Given the description of an element on the screen output the (x, y) to click on. 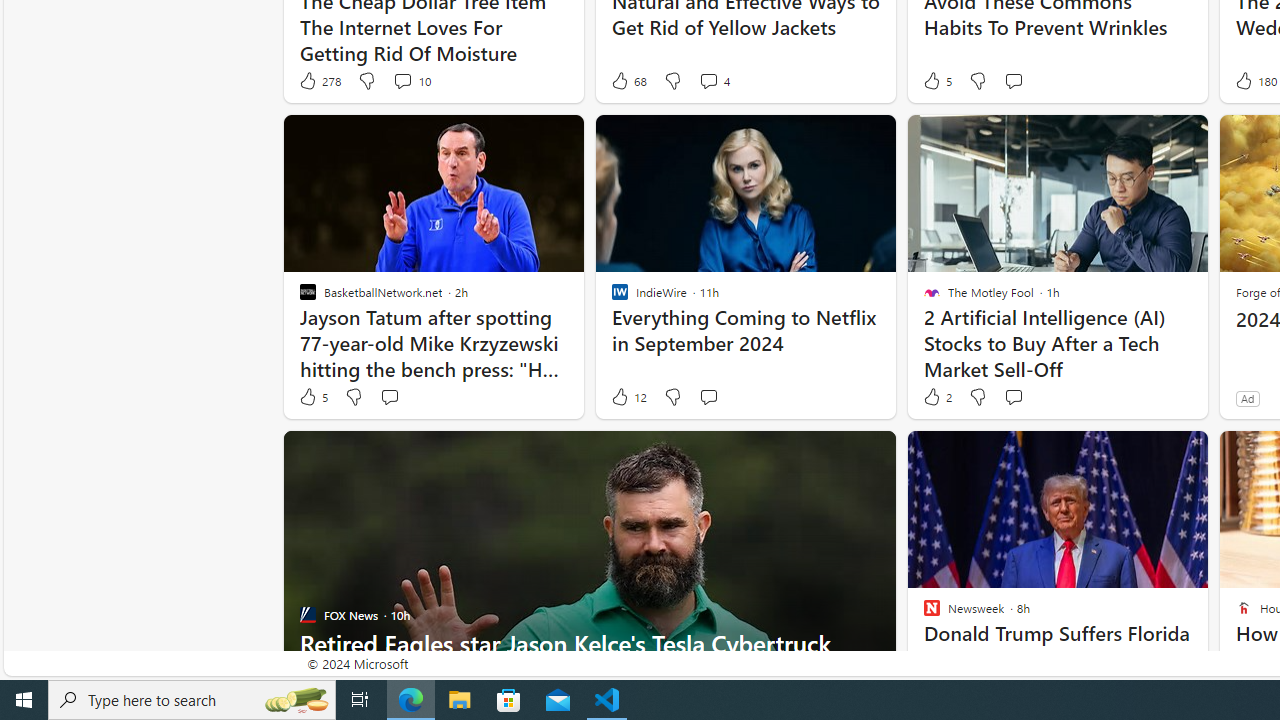
View comments 10 Comment (402, 80)
68 Like (628, 80)
5 Like (312, 397)
View comments 10 Comment (411, 80)
2 Like (936, 397)
View comments 4 Comment (713, 80)
12 Like (628, 397)
Hide this story (1147, 454)
View comments 4 Comment (708, 80)
